Given the description of an element on the screen output the (x, y) to click on. 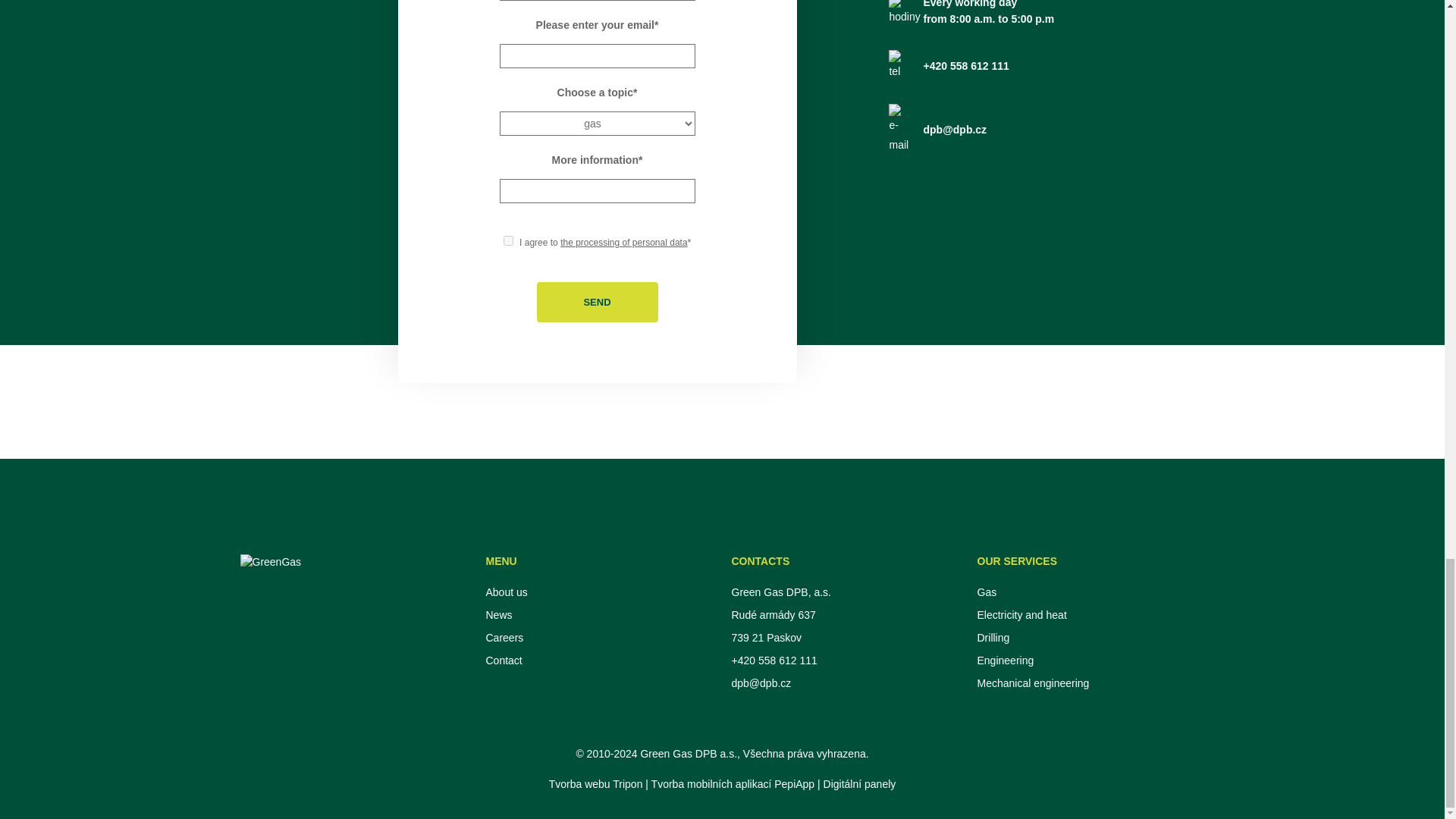
Send (597, 301)
1 (508, 240)
